Given the description of an element on the screen output the (x, y) to click on. 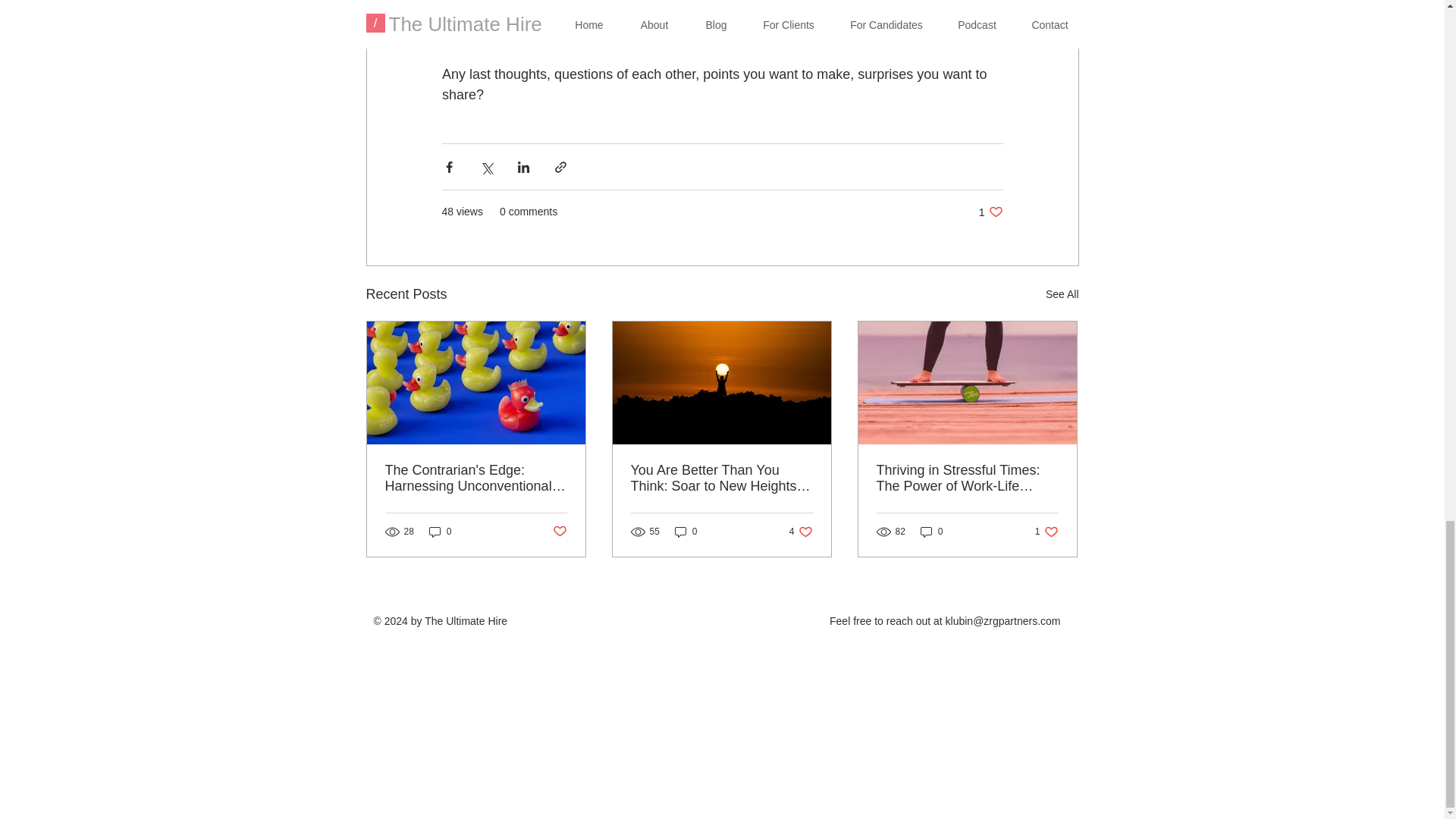
Post not marked as liked (558, 531)
See All (1061, 294)
0 (685, 531)
0 (1046, 531)
Thriving in Stressful Times: The Power of Work-Life Balance (990, 211)
0 (931, 531)
